Given the description of an element on the screen output the (x, y) to click on. 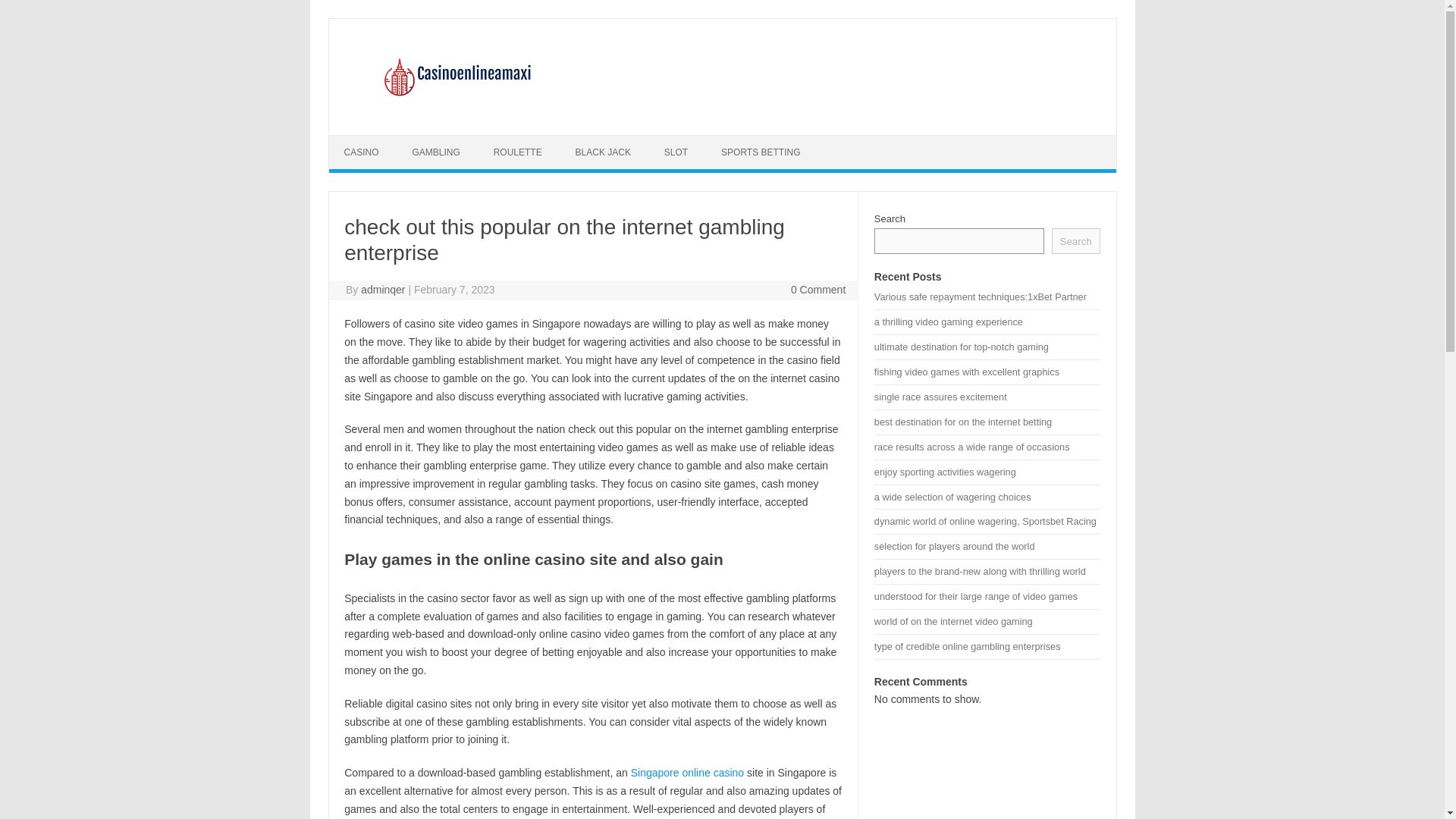
single race assures excitement (941, 396)
Singapore online casino (687, 772)
world of on the internet video gaming (953, 621)
a wide selection of wagering choices (952, 496)
a thrilling video gaming experience (949, 321)
Skip to content (363, 140)
CASINO (361, 151)
enjoy sporting activities wagering (945, 471)
selection for players around the world (955, 546)
Casinoenlineamaxi (454, 109)
